Given the description of an element on the screen output the (x, y) to click on. 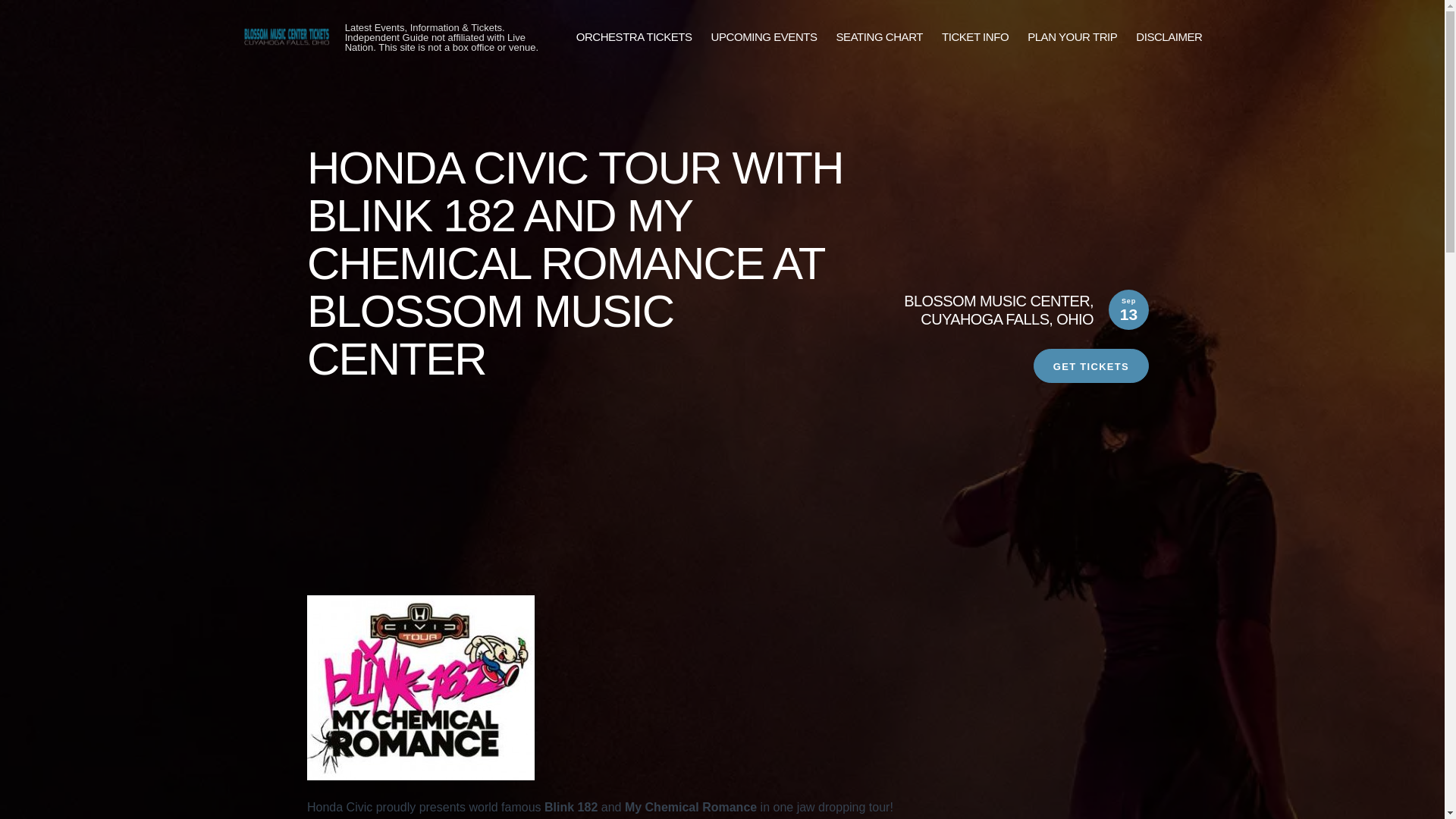
GET TICKETS (1090, 365)
DISCLAIMER (1168, 36)
TICKET INFO (975, 36)
PLAN YOUR TRIP (1071, 36)
SEATING CHART (879, 36)
blink-182 My Chemical Romance 2011 Honda Civic (420, 687)
ORCHESTRA TICKETS (634, 36)
UPCOMING EVENTS (763, 36)
